Given the description of an element on the screen output the (x, y) to click on. 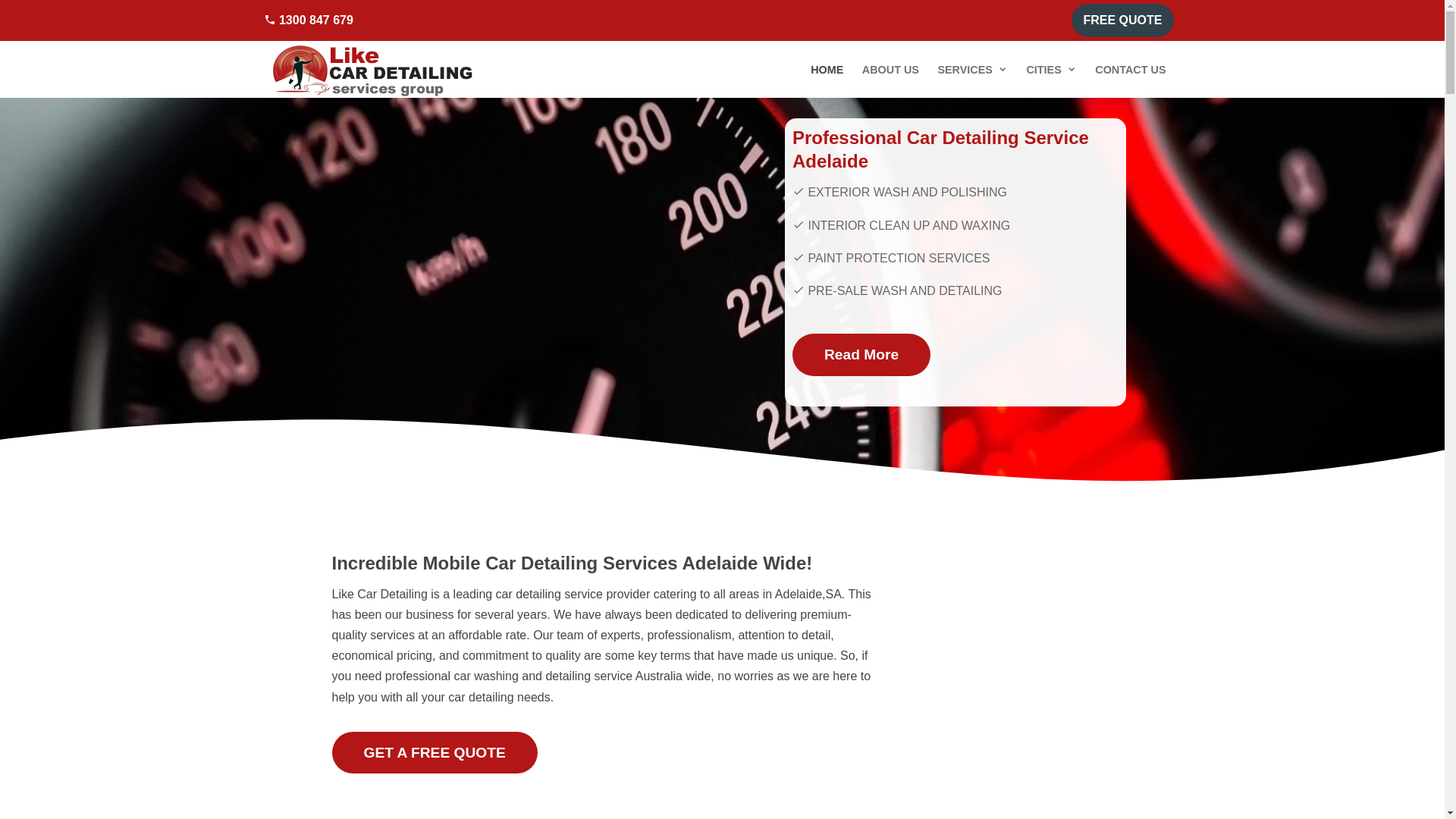
HOME Element type: text (826, 68)
SERVICES Element type: text (972, 68)
CITIES Element type: text (1050, 68)
GET A FREE QUOTE Element type: text (434, 752)
1300 847 679 Element type: text (308, 20)
CONTACT US Element type: text (1130, 68)
Read More Element type: text (861, 354)
FREE QUOTE Element type: text (1122, 20)
ABOUT US Element type: text (890, 68)
